Given the description of an element on the screen output the (x, y) to click on. 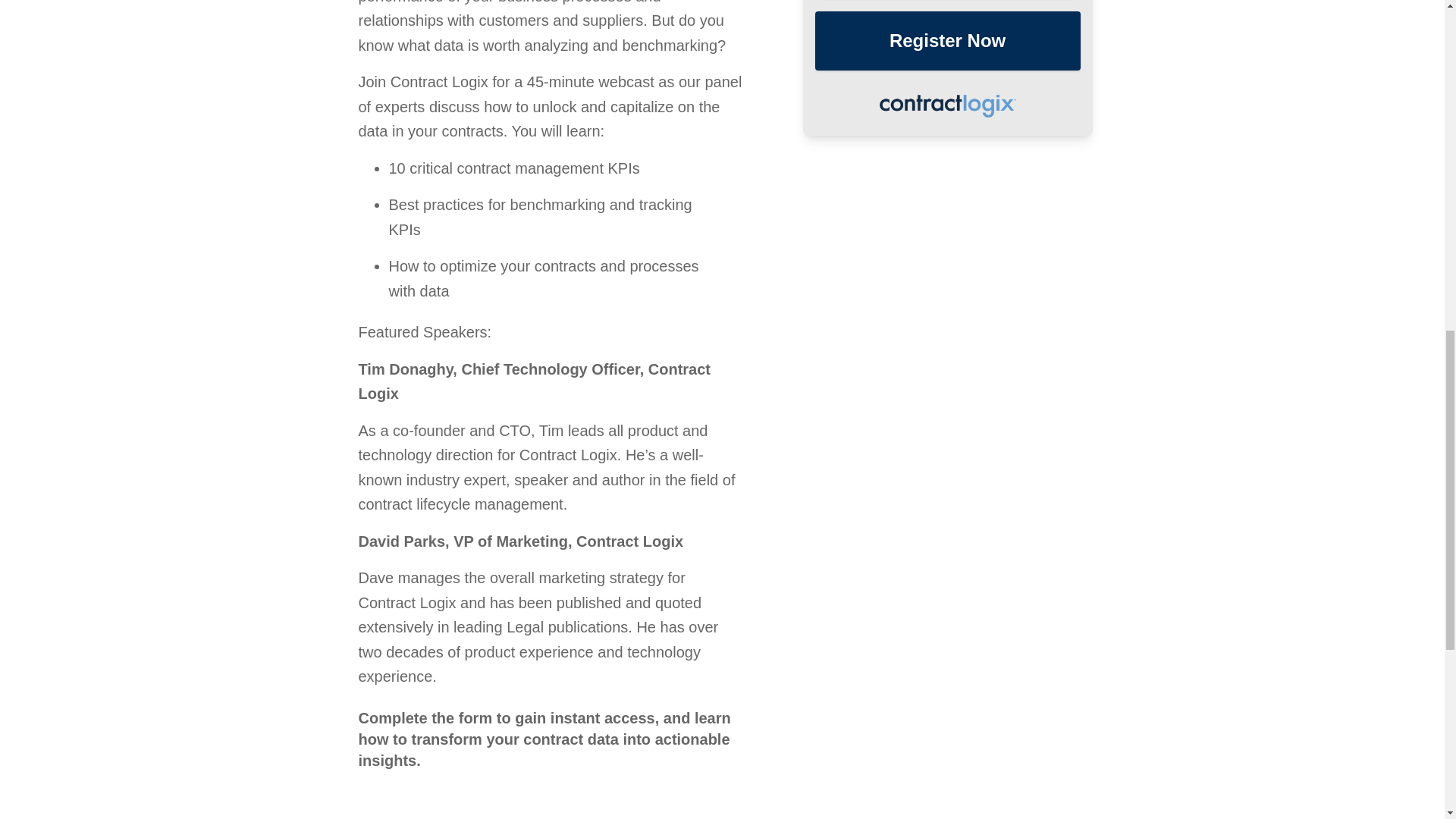
Register Now (947, 40)
